Given the description of an element on the screen output the (x, y) to click on. 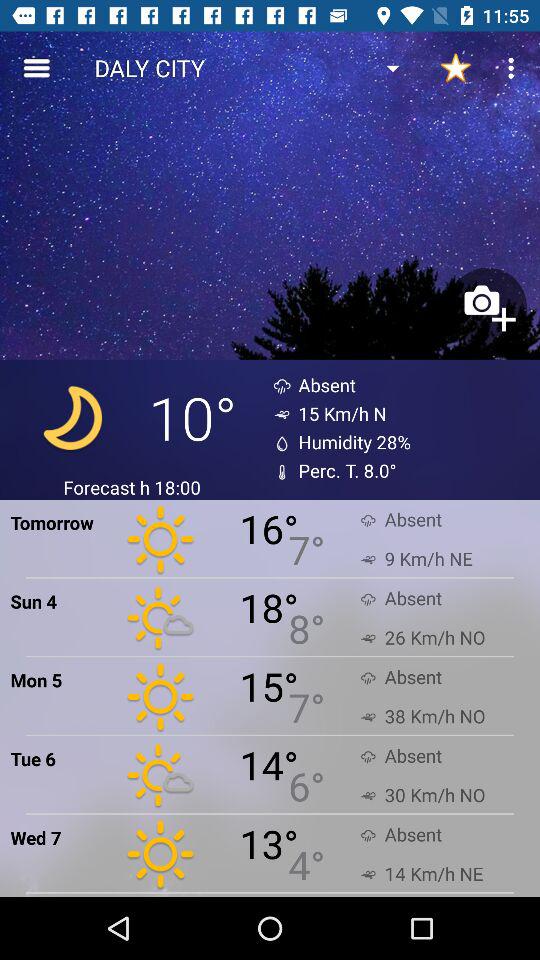
add a picture (487, 306)
